Given the description of an element on the screen output the (x, y) to click on. 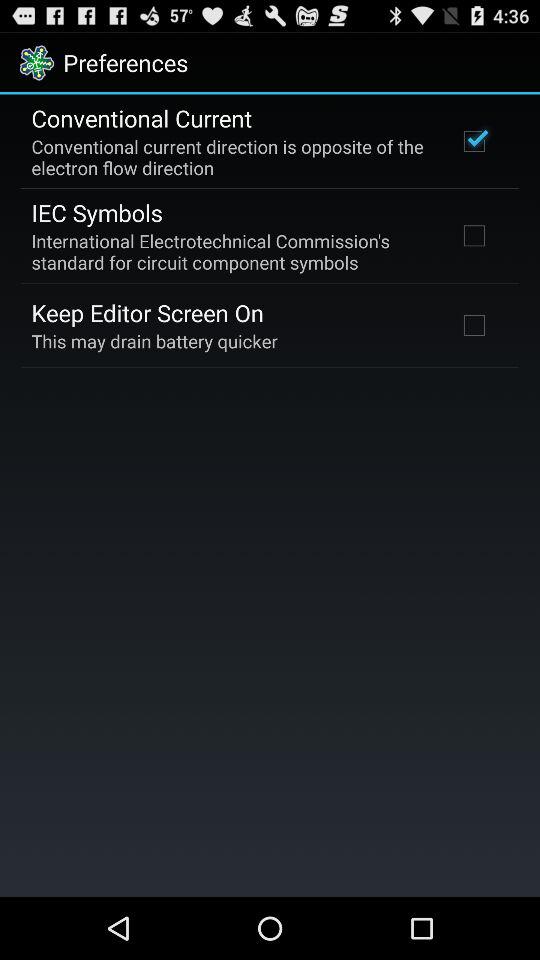
scroll until the keep editor screen icon (147, 312)
